Given the description of an element on the screen output the (x, y) to click on. 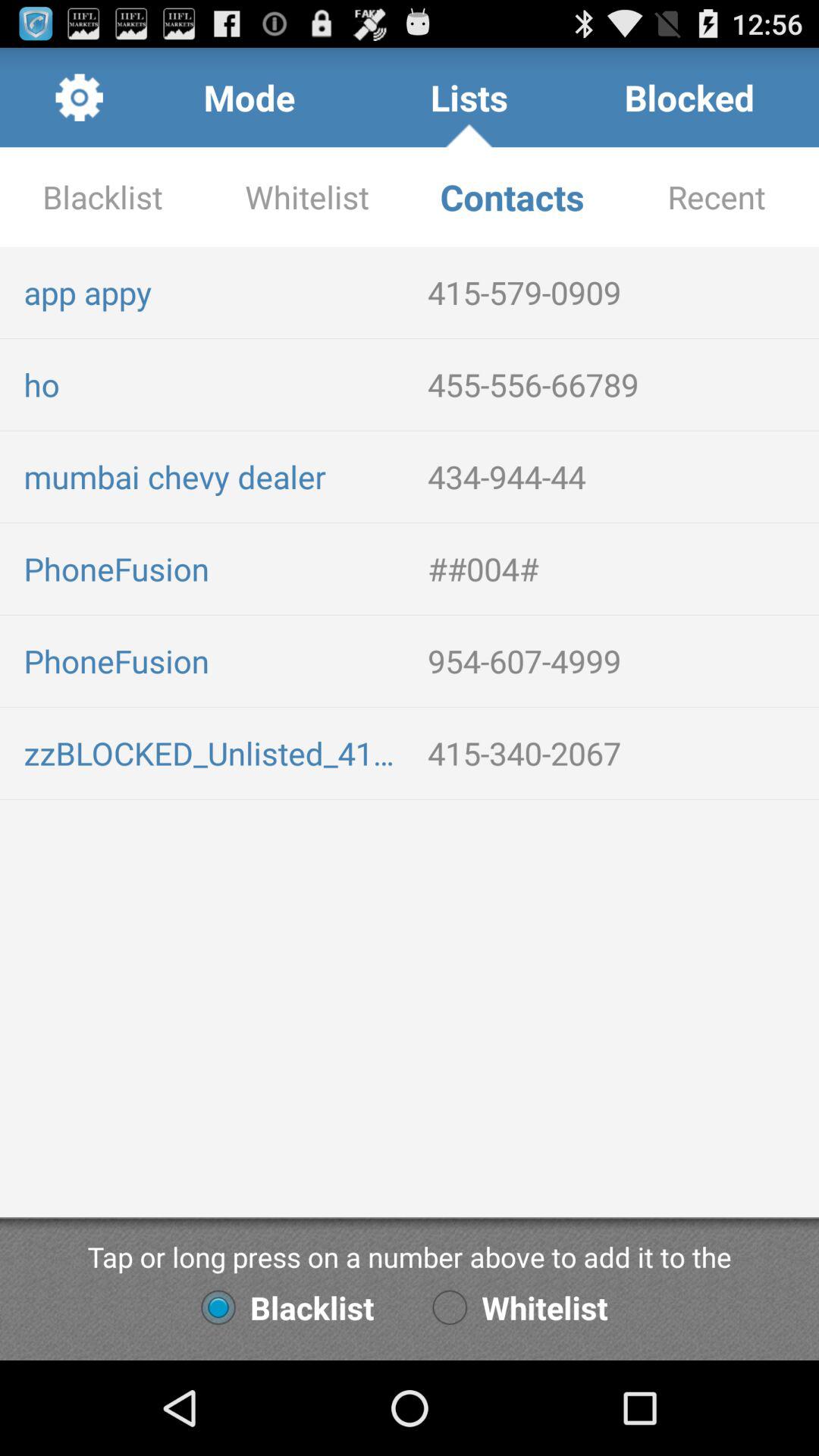
scroll to lists icon (469, 97)
